Given the description of an element on the screen output the (x, y) to click on. 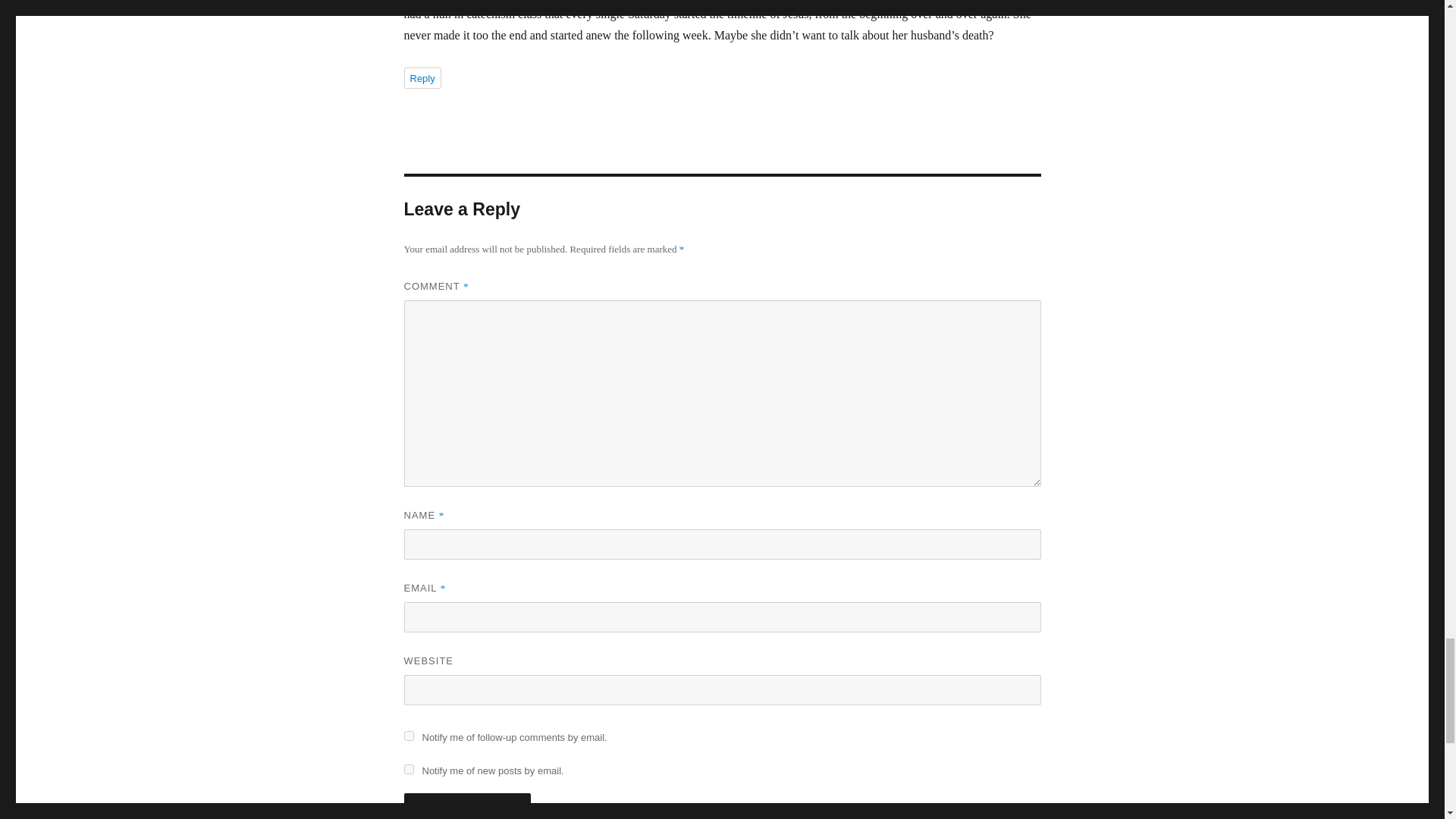
Reply (422, 77)
Post Comment (467, 806)
subscribe (408, 768)
Post Comment (467, 806)
subscribe (408, 736)
